Given the description of an element on the screen output the (x, y) to click on. 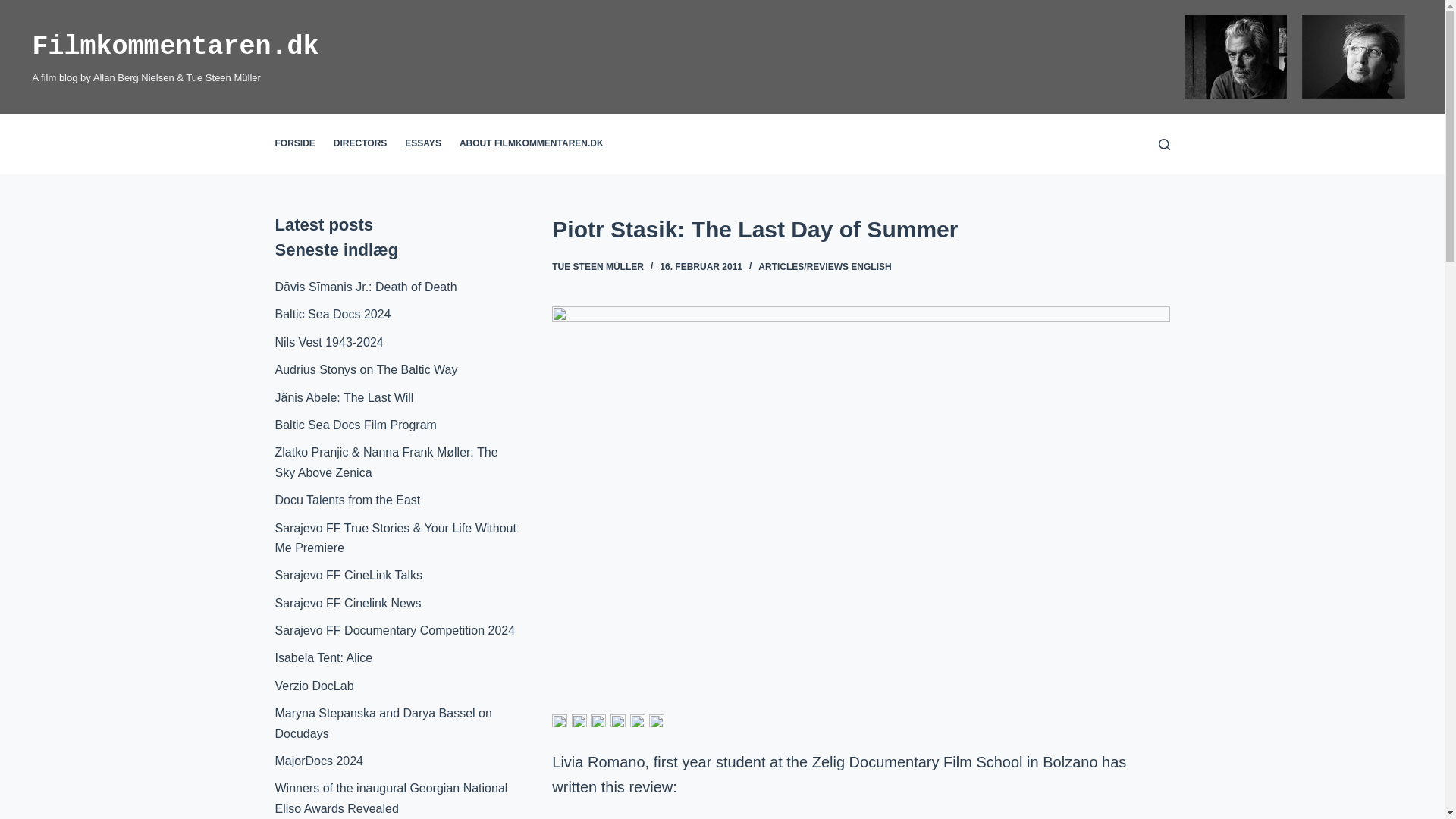
Piotr Stasik: The Last Day of Summer (860, 229)
Sarajevo FF CineLink Talks (348, 574)
ABOUT FILMKOMMENTAREN.DK (530, 143)
Baltic Sea Docs 2024 (332, 314)
DIRECTORS (360, 143)
Filmkommentaren.dk (175, 46)
Docu Talents from the East (347, 499)
Audrius Stonys on The Baltic Way (366, 369)
Skip to content (15, 7)
ESSAYS (422, 143)
